Given the description of an element on the screen output the (x, y) to click on. 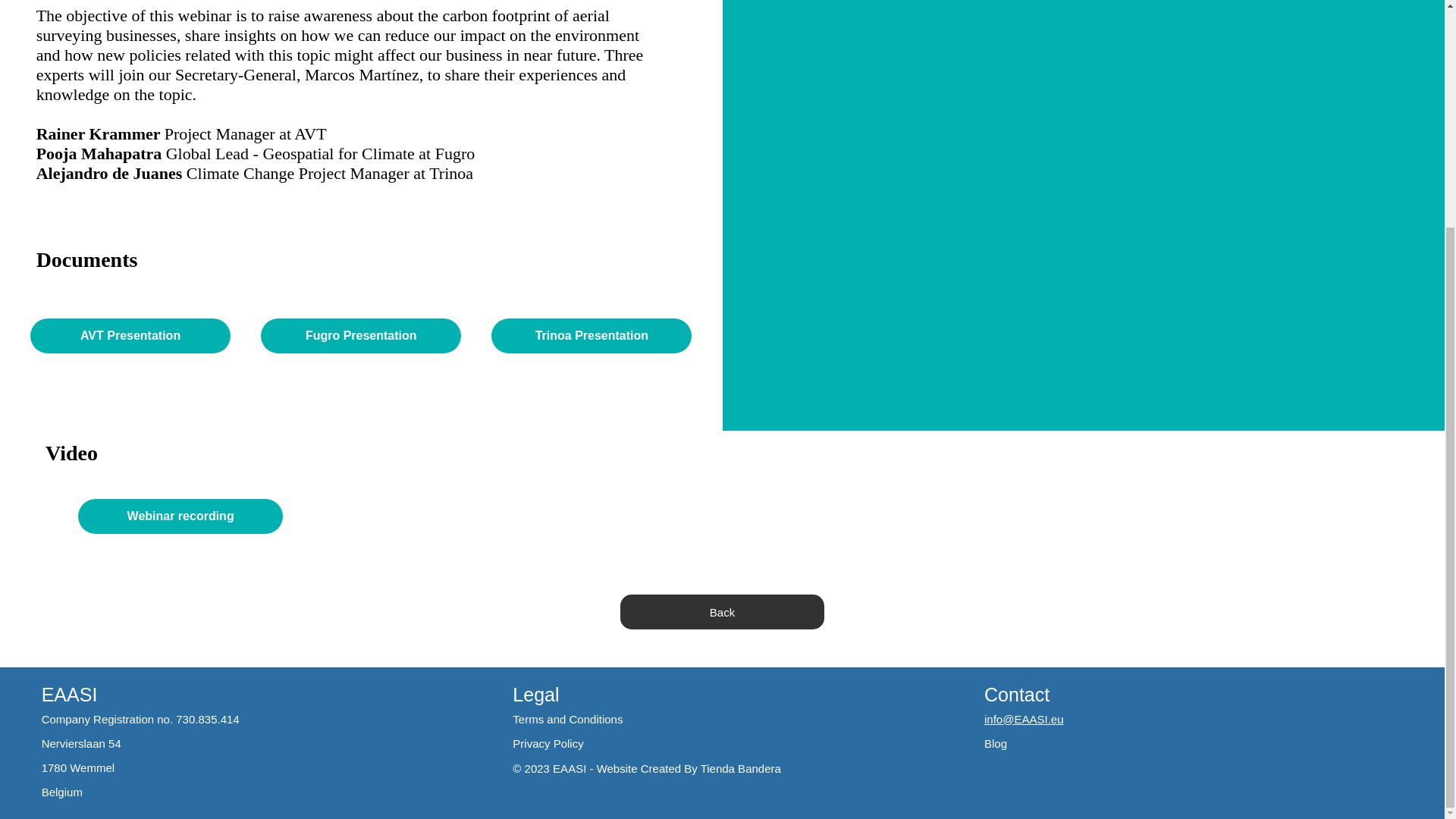
Privacy Policy (547, 743)
Webinar recording (180, 515)
Back (722, 611)
Terms and Conditions (567, 718)
AVT Presentation (130, 335)
Trinoa Presentation (591, 335)
Fugro Presentation (360, 335)
Blog (995, 743)
